Given the description of an element on the screen output the (x, y) to click on. 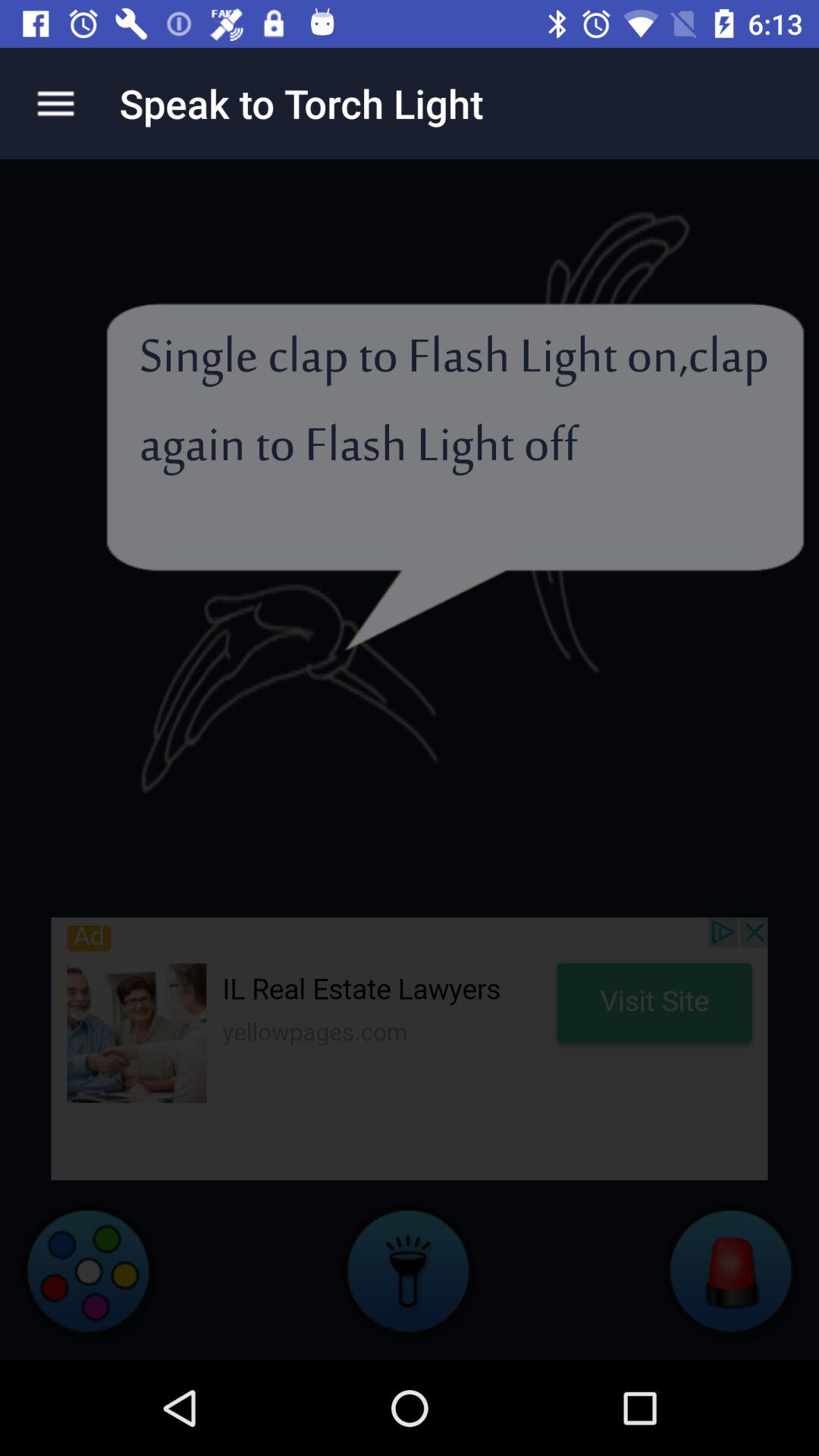
torch light (409, 1270)
